Given the description of an element on the screen output the (x, y) to click on. 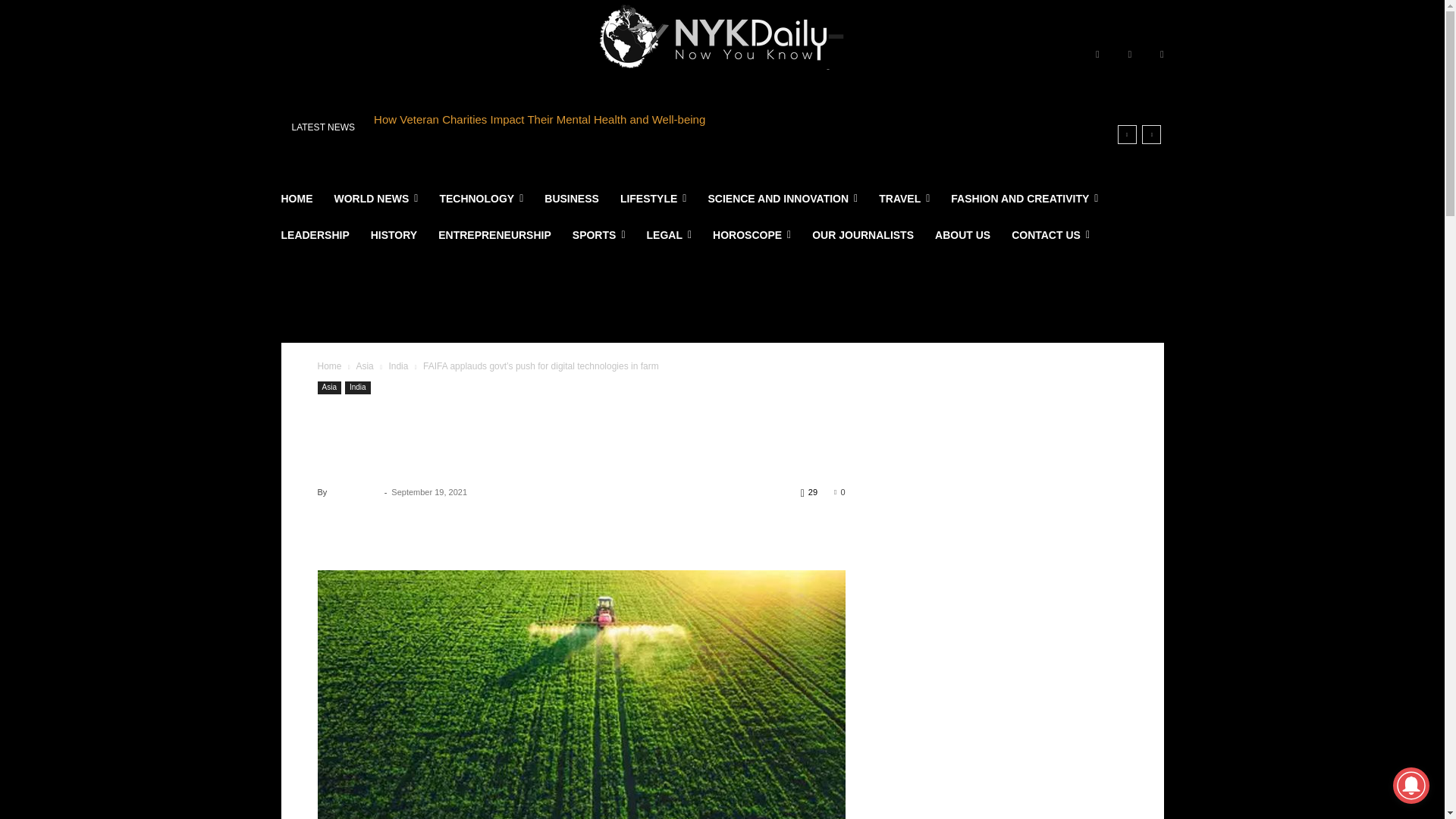
Instagram (1130, 54)
Facebook (1096, 54)
Twitter (1162, 54)
